Given the description of an element on the screen output the (x, y) to click on. 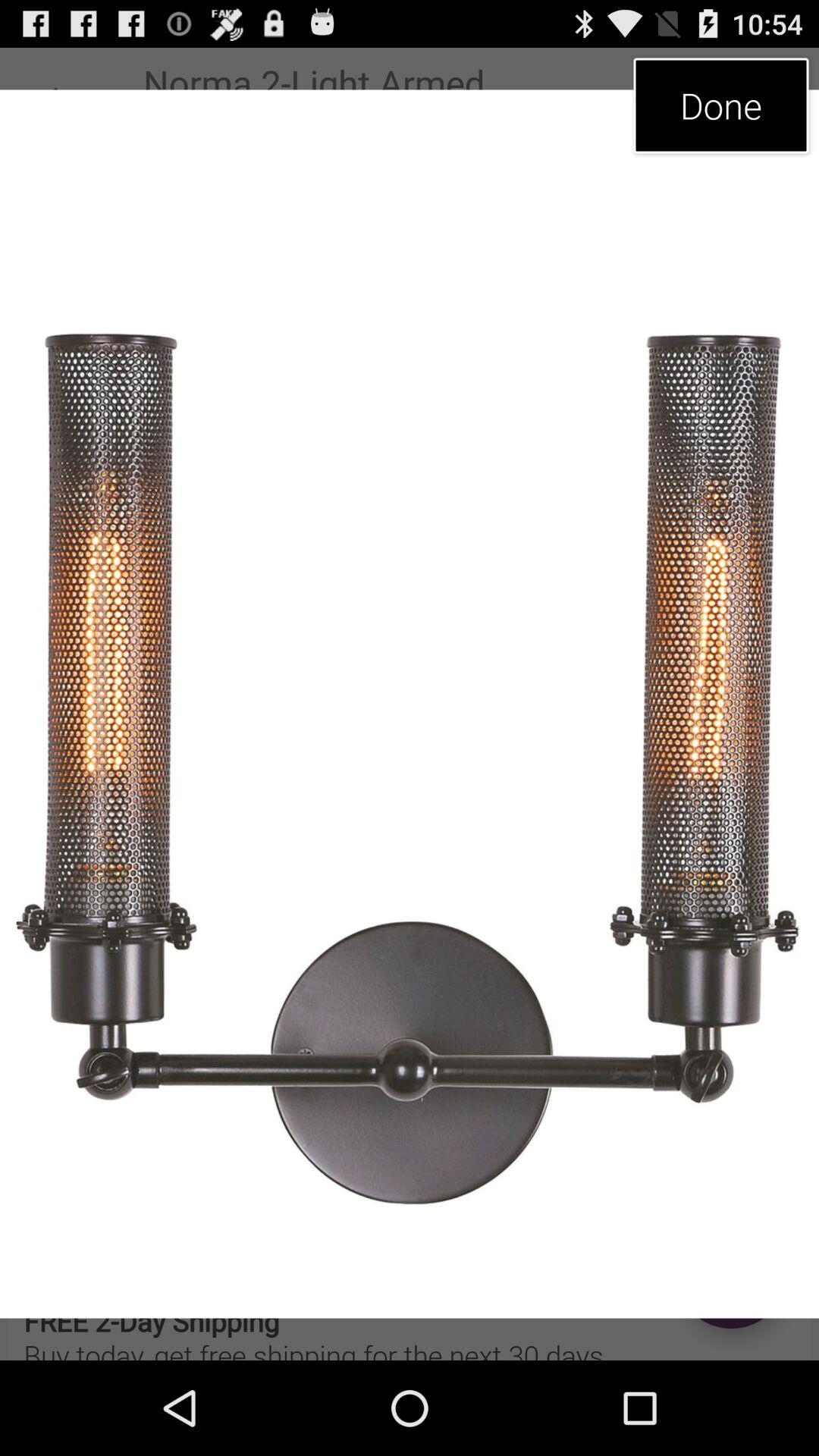
click done (720, 105)
